Given the description of an element on the screen output the (x, y) to click on. 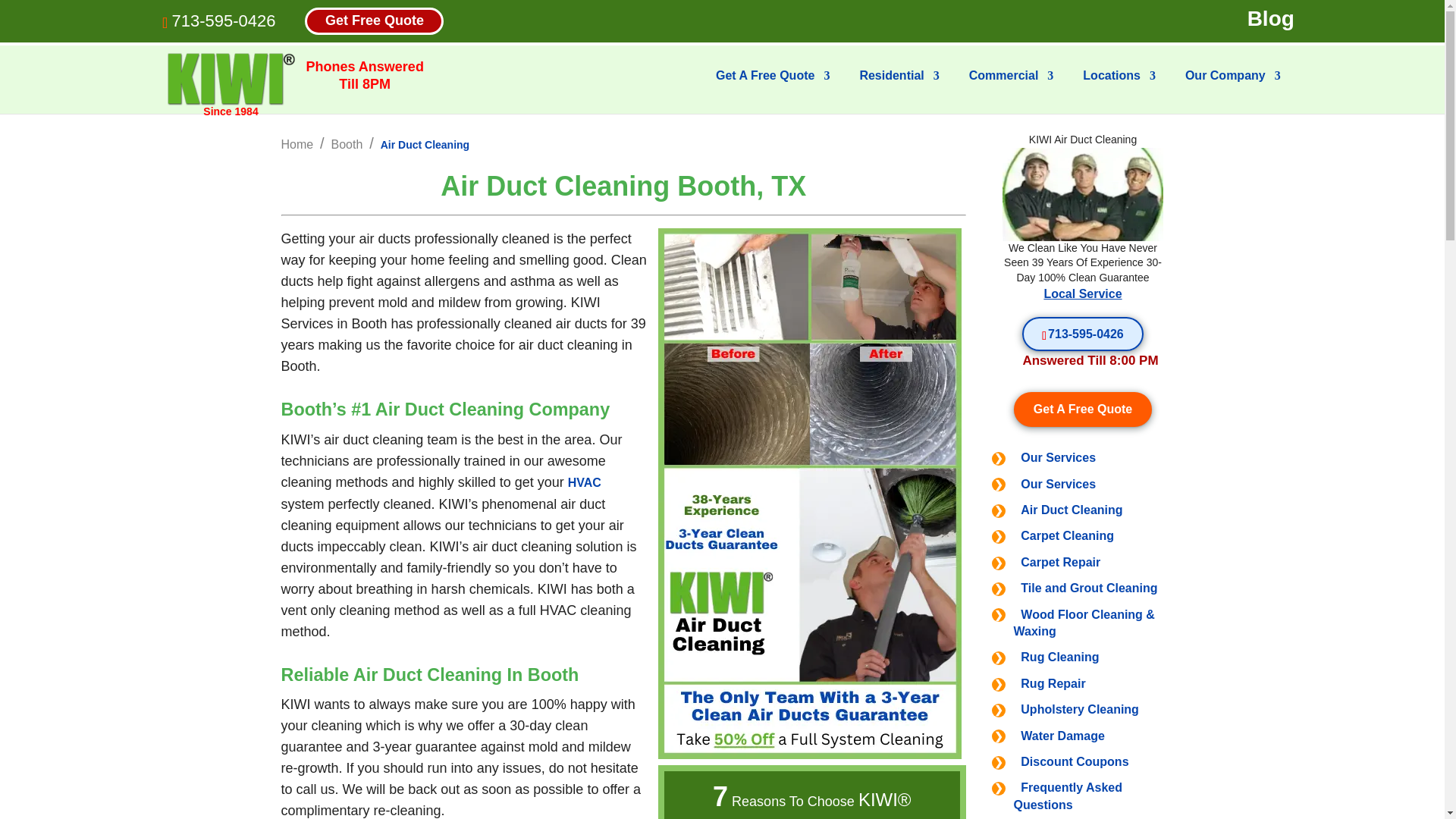
KIWI Cleaning Services (230, 79)
Get A Free Quote (772, 88)
Carpet Cleaners From Kiwi (1083, 194)
Call For This Week's Special (1082, 333)
Get Free Quote (373, 20)
Blog (1270, 18)
Residential (899, 88)
Since 1984 (230, 79)
Get Free Quote On This Week's Special (1082, 408)
713-595-0426 (223, 20)
